Given the description of an element on the screen output the (x, y) to click on. 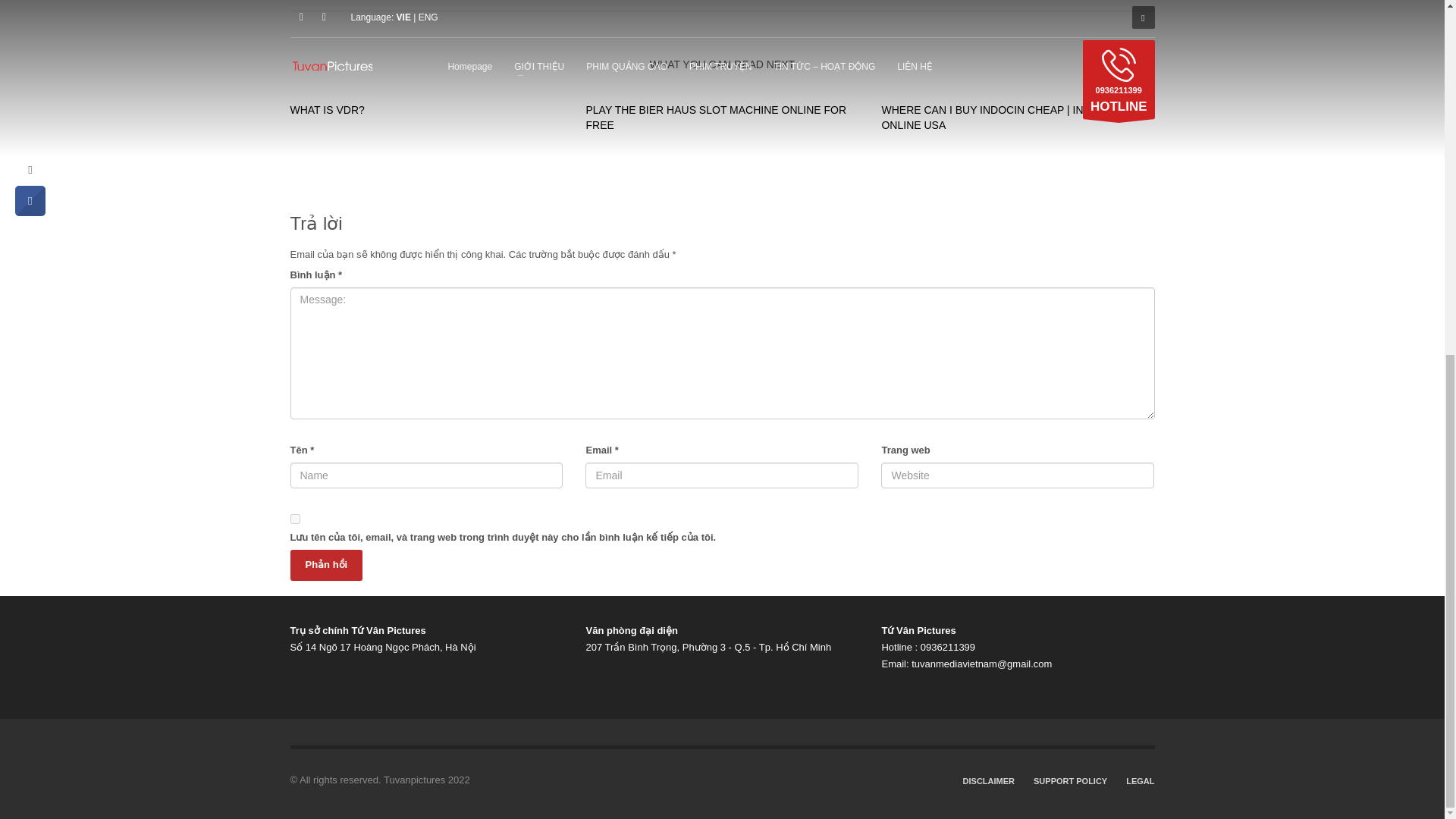
DISCLAIMER (988, 781)
SUPPORT POLICY (1069, 781)
WHAT IS VDR? (326, 110)
LEGAL (1139, 781)
PLAY THE BIER HAUS SLOT MACHINE ONLINE FOR FREE (715, 117)
yes (294, 519)
